Given the description of an element on the screen output the (x, y) to click on. 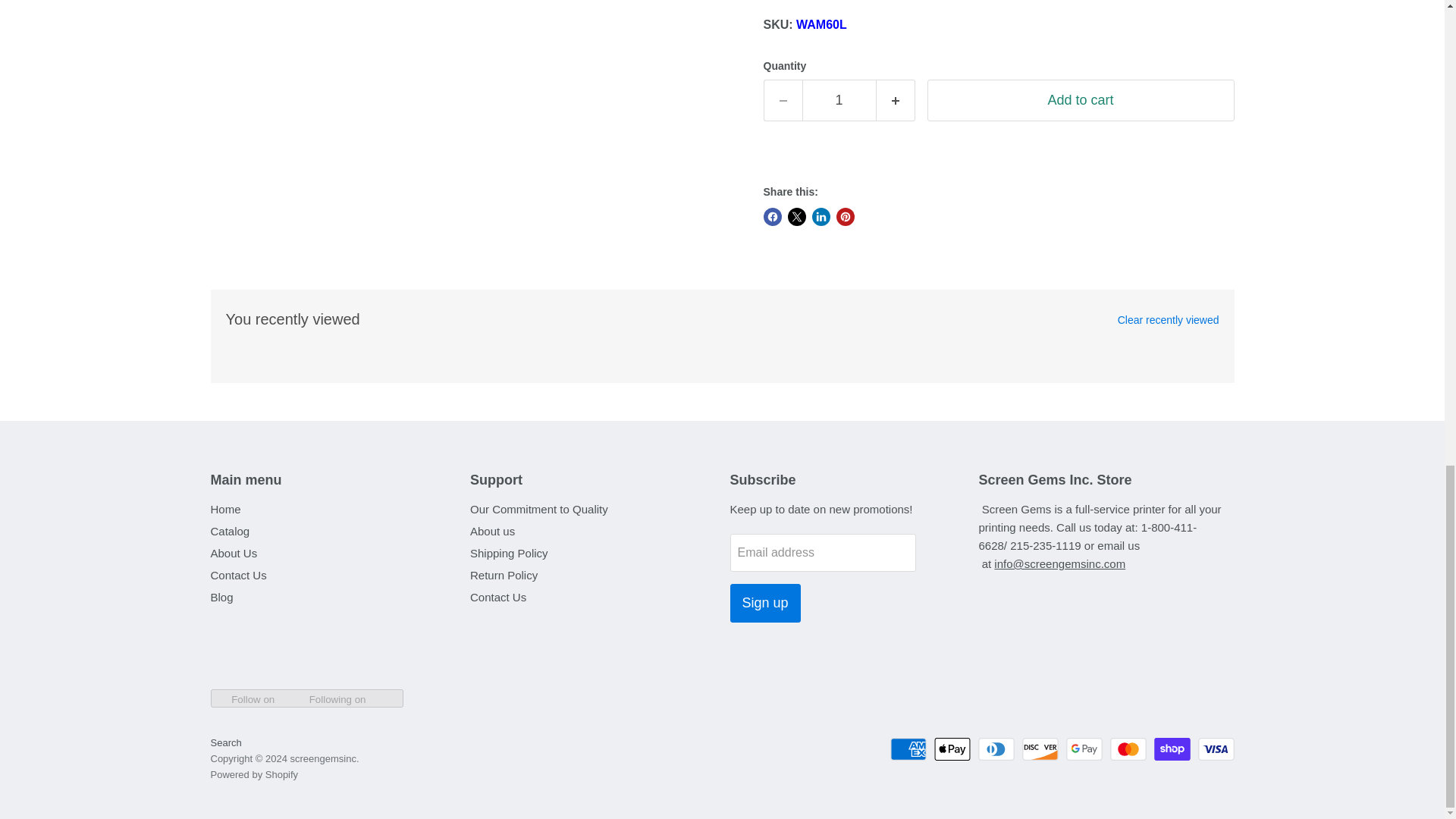
Diners Club (996, 748)
Apple Pay (952, 748)
American Express (907, 748)
Shop Pay (1172, 748)
Mastercard (1128, 748)
1 (839, 100)
Discover (1040, 748)
Google Pay (1083, 748)
